Given the description of an element on the screen output the (x, y) to click on. 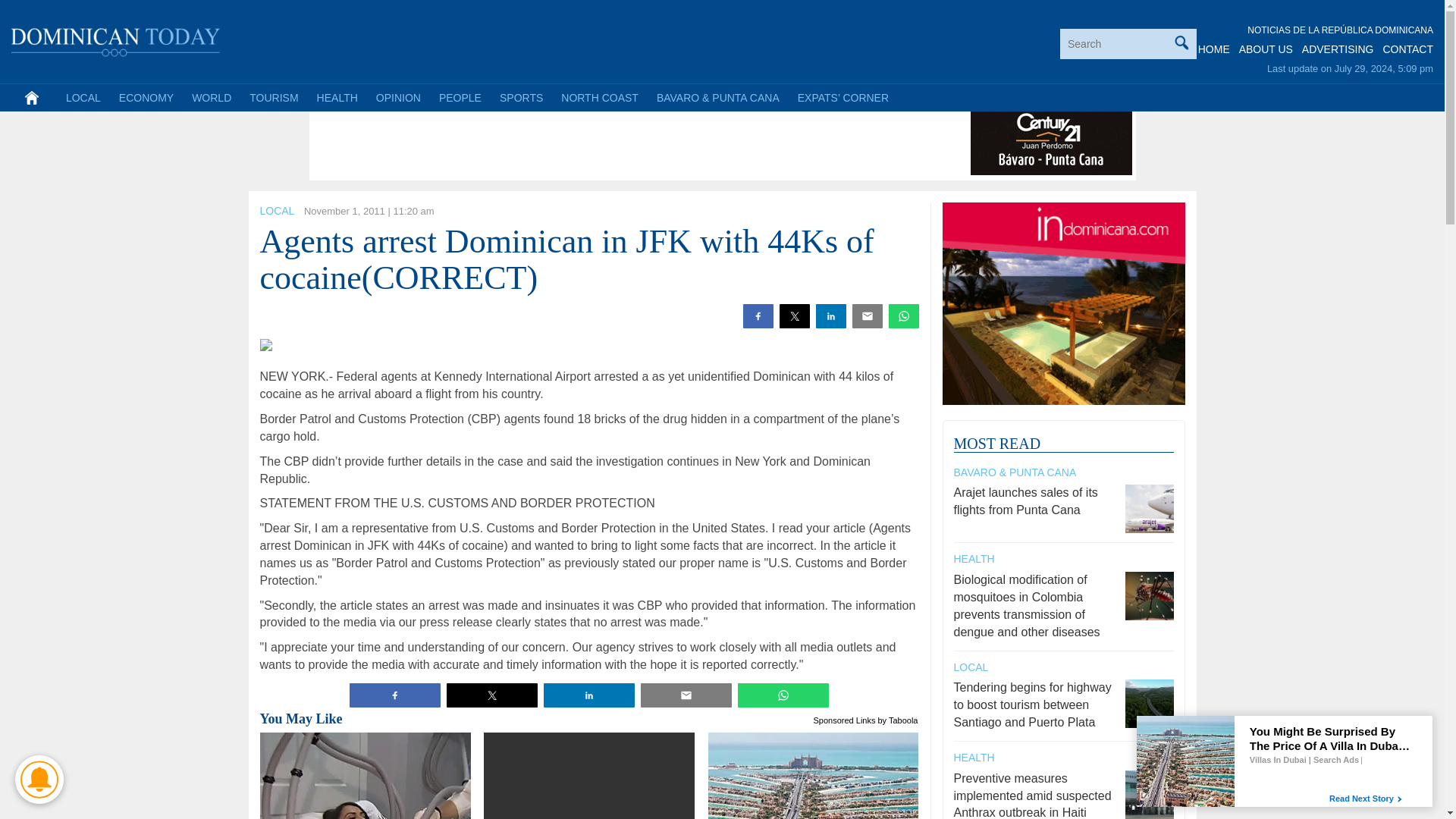
WORLD (211, 97)
ABOUT US (1265, 49)
HOME (1214, 49)
Advertisement (589, 141)
Sponsored Links (844, 718)
ECONOMY (146, 97)
HEALTH (336, 97)
NORTH COAST (599, 97)
LOCAL (83, 97)
Dominican Today News - Santo Domingo and Dominican Republic (116, 38)
SPORTS (520, 97)
by Taboola (897, 718)
LOCAL (276, 210)
OPINION (397, 97)
ADVERTISING (1337, 49)
